Given the description of an element on the screen output the (x, y) to click on. 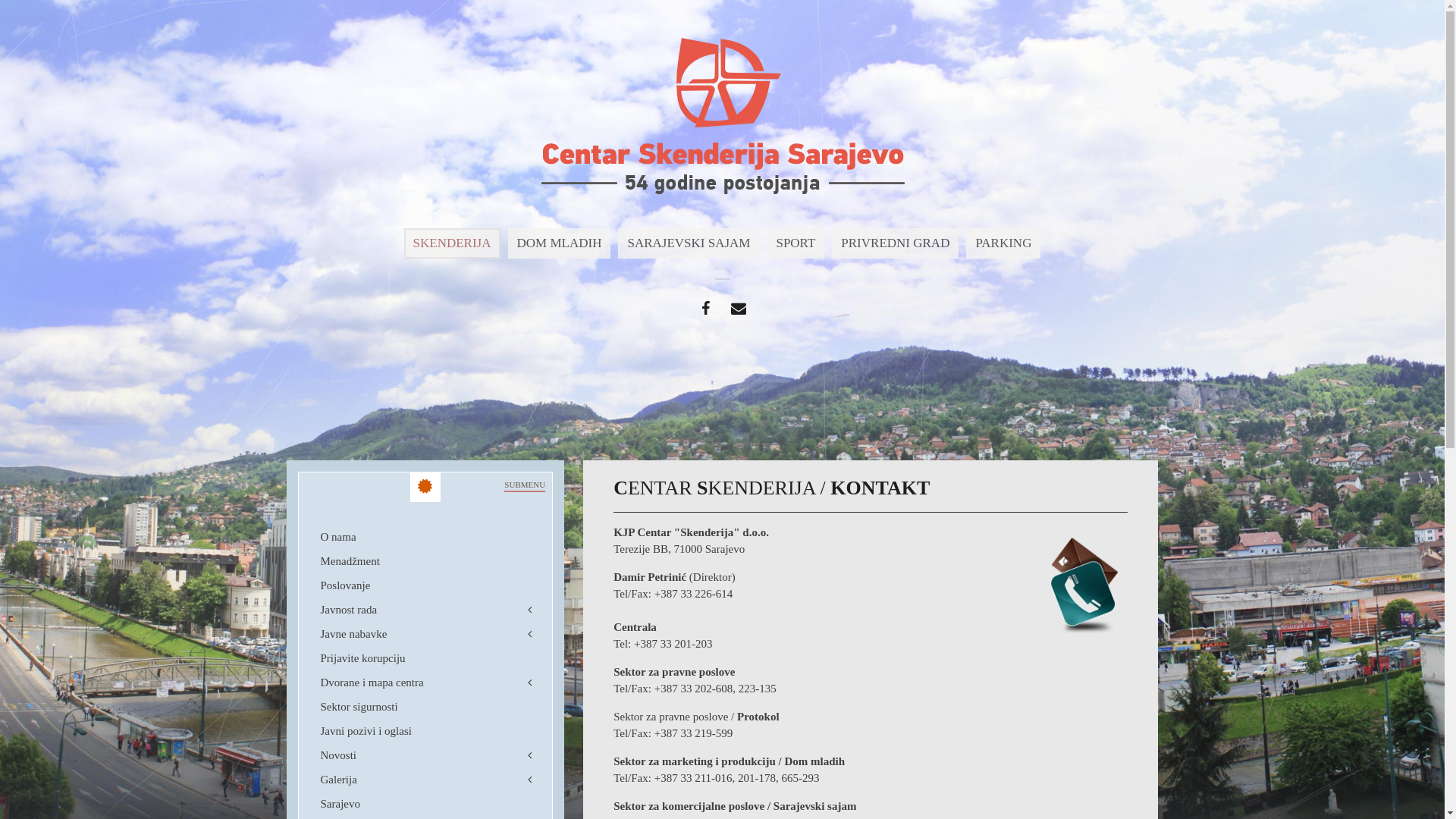
SARAJEVSKI SAJAM Element type: text (688, 243)
Javnost rada Element type: text (425, 609)
PARKING Element type: text (1003, 243)
Galerija Element type: text (425, 779)
O nama Element type: text (425, 536)
SKENDERIJA Element type: text (452, 243)
Javni pozivi i oglasi Element type: text (425, 730)
Novosti Element type: text (425, 755)
Prijavite korupciju Element type: text (425, 658)
Sektor sigurnosti Element type: text (425, 706)
Javne nabavke Element type: text (425, 633)
PRIVREDNI GRAD Element type: text (894, 243)
DOM MLADIH Element type: text (559, 243)
SPORT Element type: text (795, 243)
Dvorane i mapa centra Element type: text (425, 682)
Poslovanje Element type: text (425, 585)
Sarajevo Element type: text (425, 803)
